Given the description of an element on the screen output the (x, y) to click on. 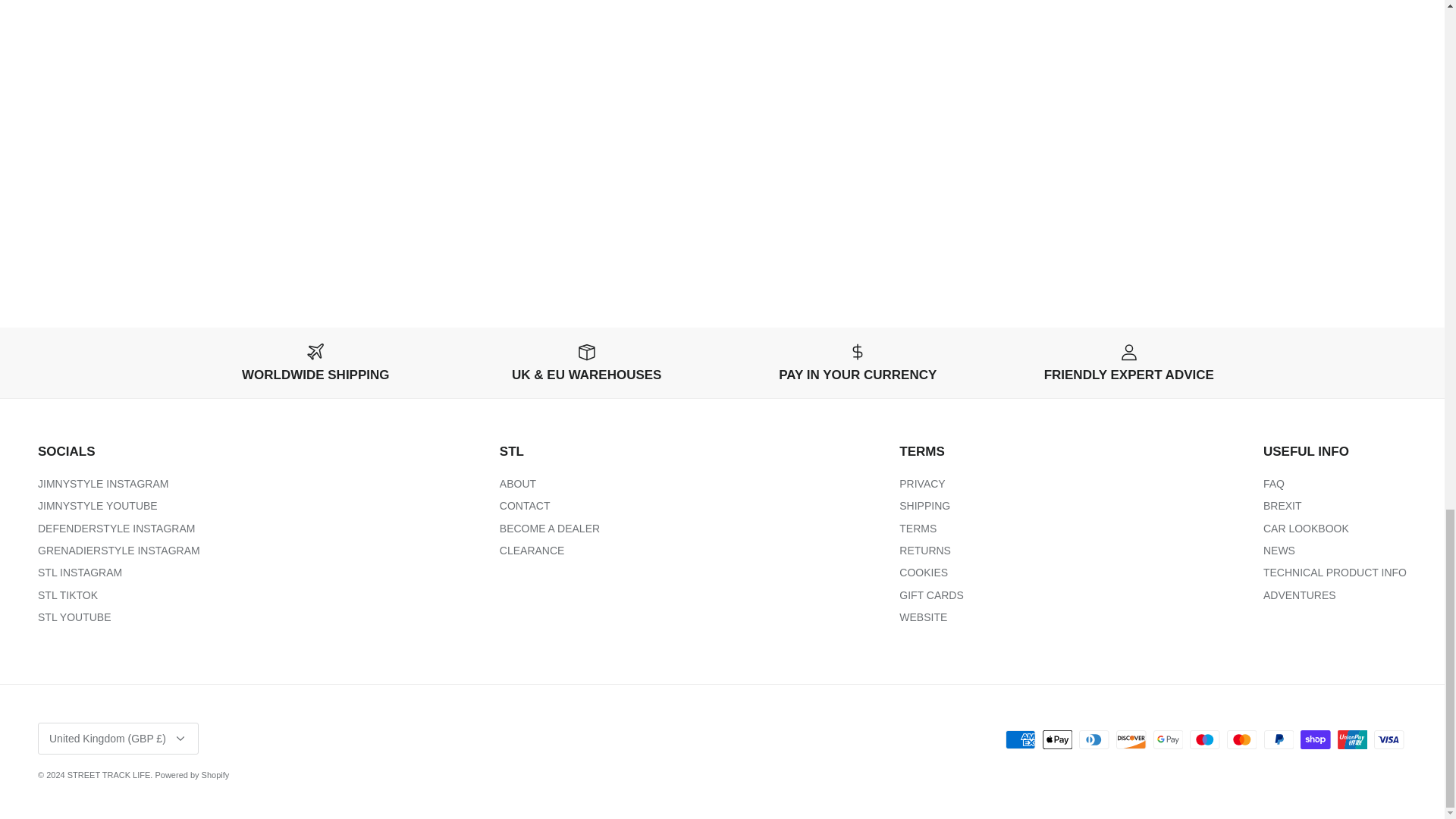
Apple Pay (1057, 739)
American Express (1020, 739)
Diners Club (1093, 739)
